Given the description of an element on the screen output the (x, y) to click on. 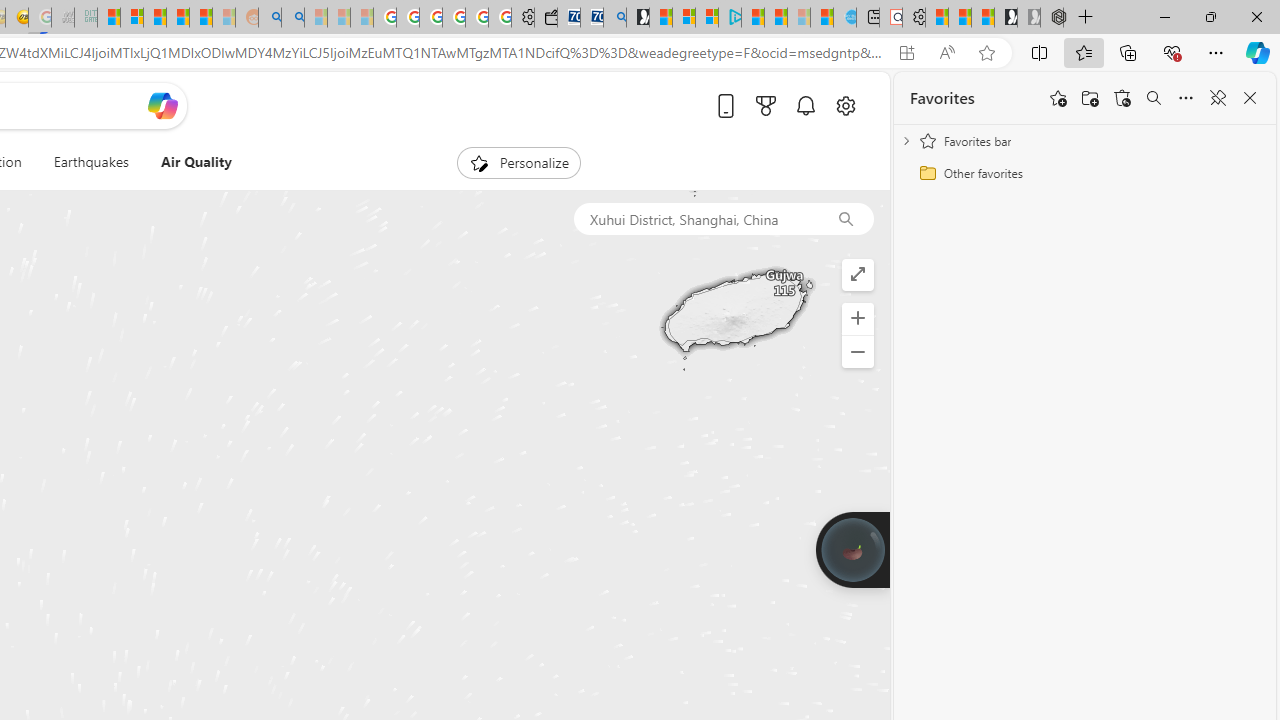
Restore deleted favorites (1122, 98)
Home | Sky Blue Bikes - Sky Blue Bikes (845, 17)
App available. Install Microsoft Start Weather (906, 53)
Air Quality (187, 162)
